Given the description of an element on the screen output the (x, y) to click on. 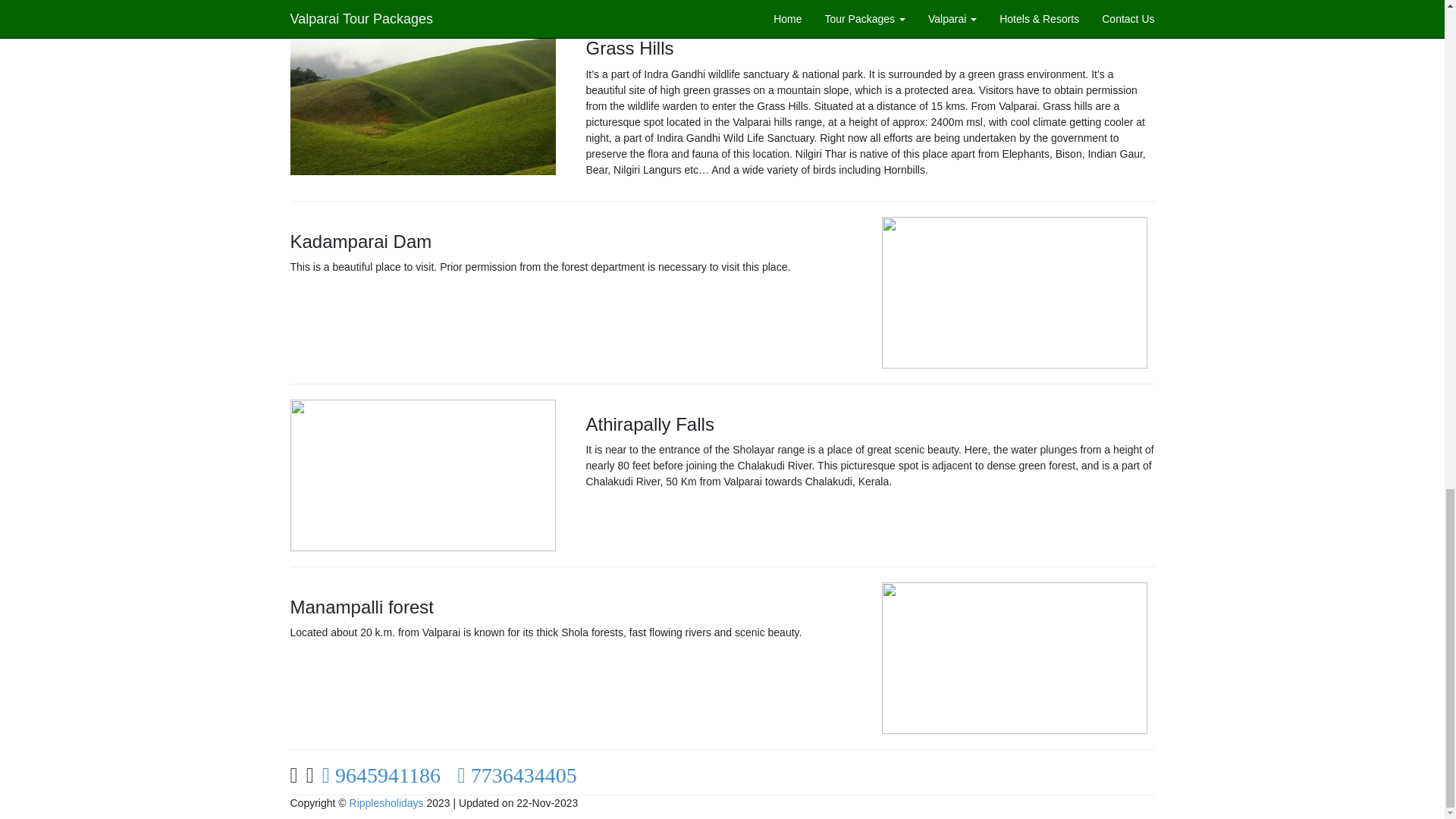
9645941186 (383, 778)
Ripplesholidays (386, 802)
7736434405 (520, 778)
